Given the description of an element on the screen output the (x, y) to click on. 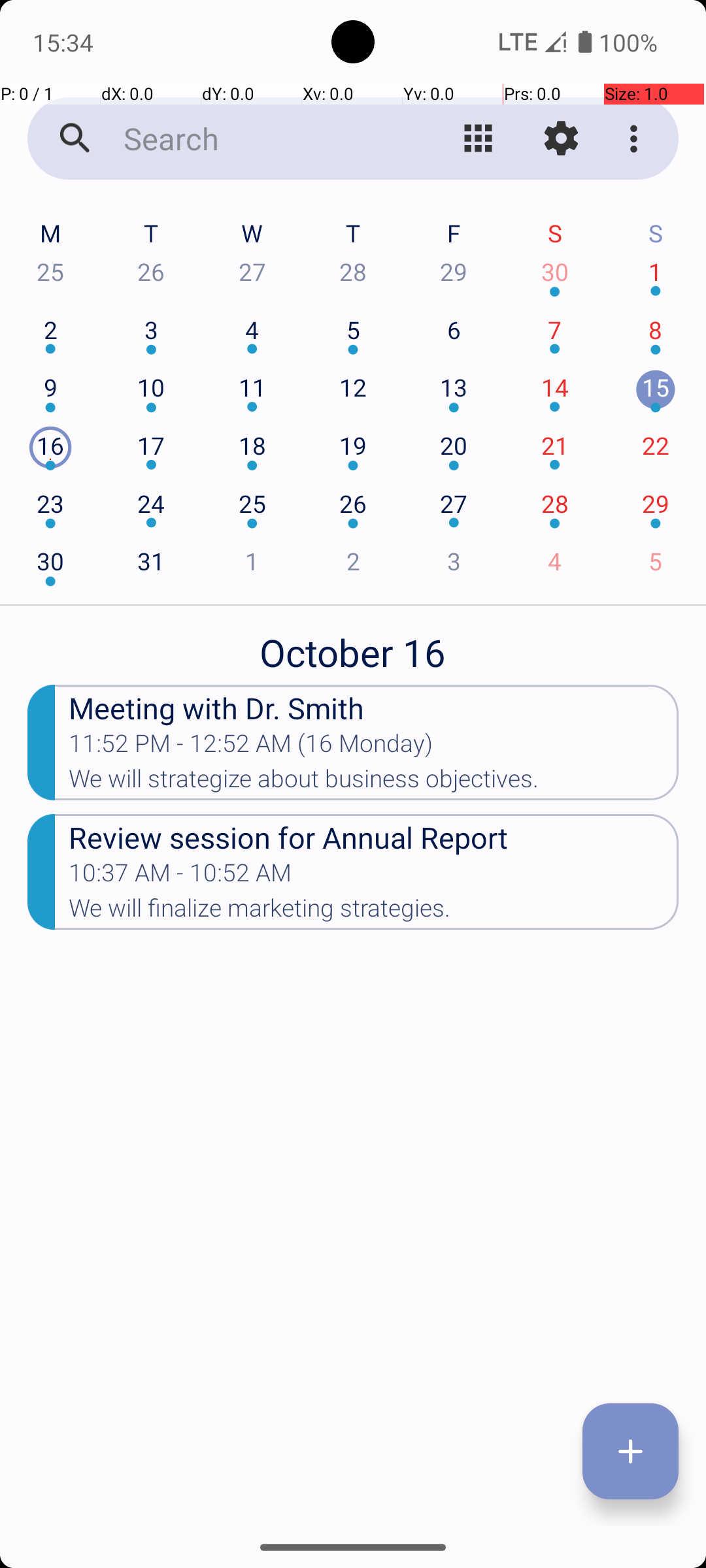
October 16 Element type: android.widget.TextView (352, 644)
11:52 PM - 12:52 AM (16 Monday) Element type: android.widget.TextView (250, 747)
We will strategize about business objectives. Element type: android.widget.TextView (373, 782)
10:37 AM - 10:52 AM Element type: android.widget.TextView (250, 876)
We will finalize marketing strategies. Element type: android.widget.TextView (373, 911)
